Given the description of an element on the screen output the (x, y) to click on. 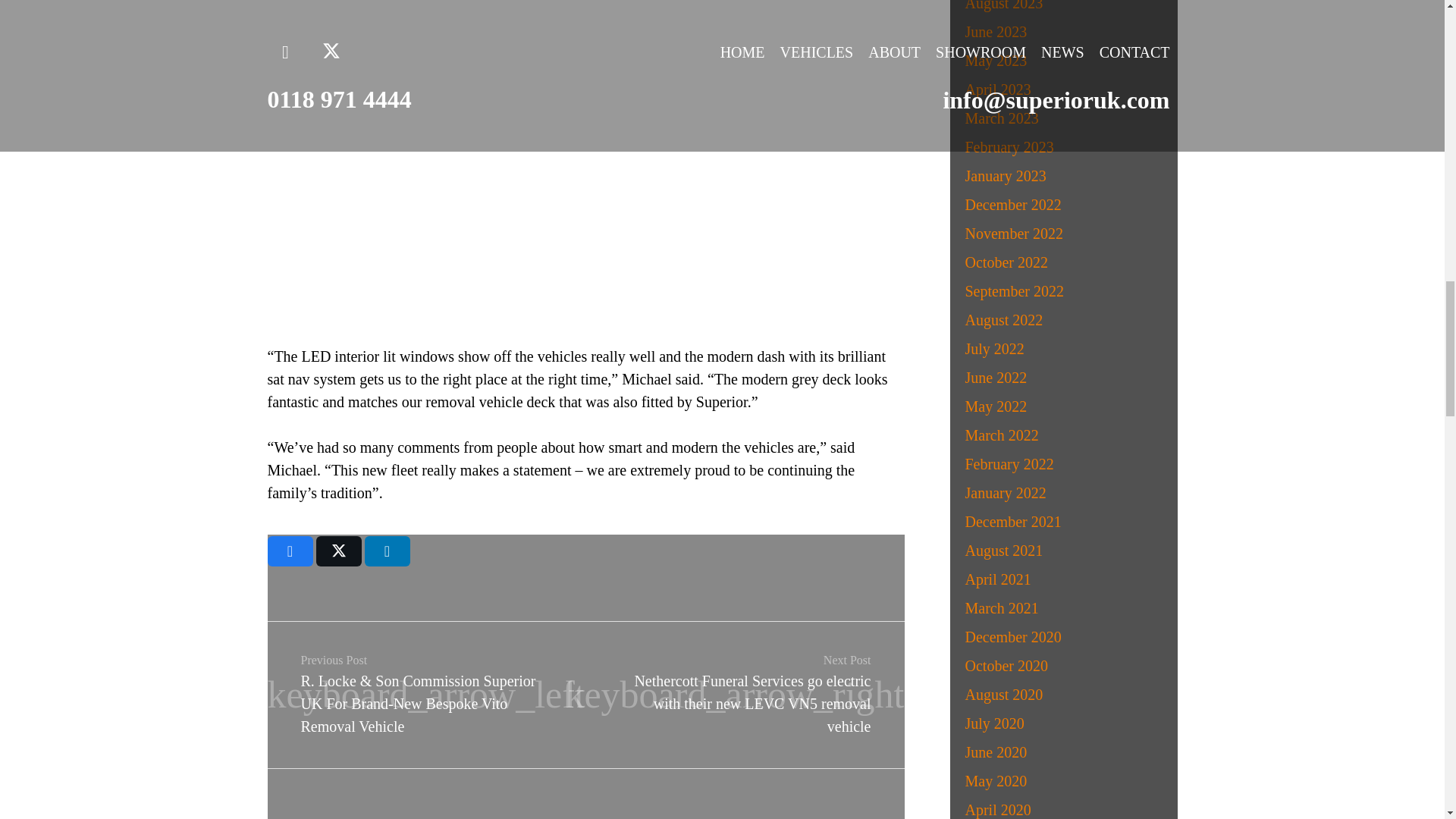
Share this (289, 551)
Tweet this (338, 551)
Share this (386, 551)
